Given the description of an element on the screen output the (x, y) to click on. 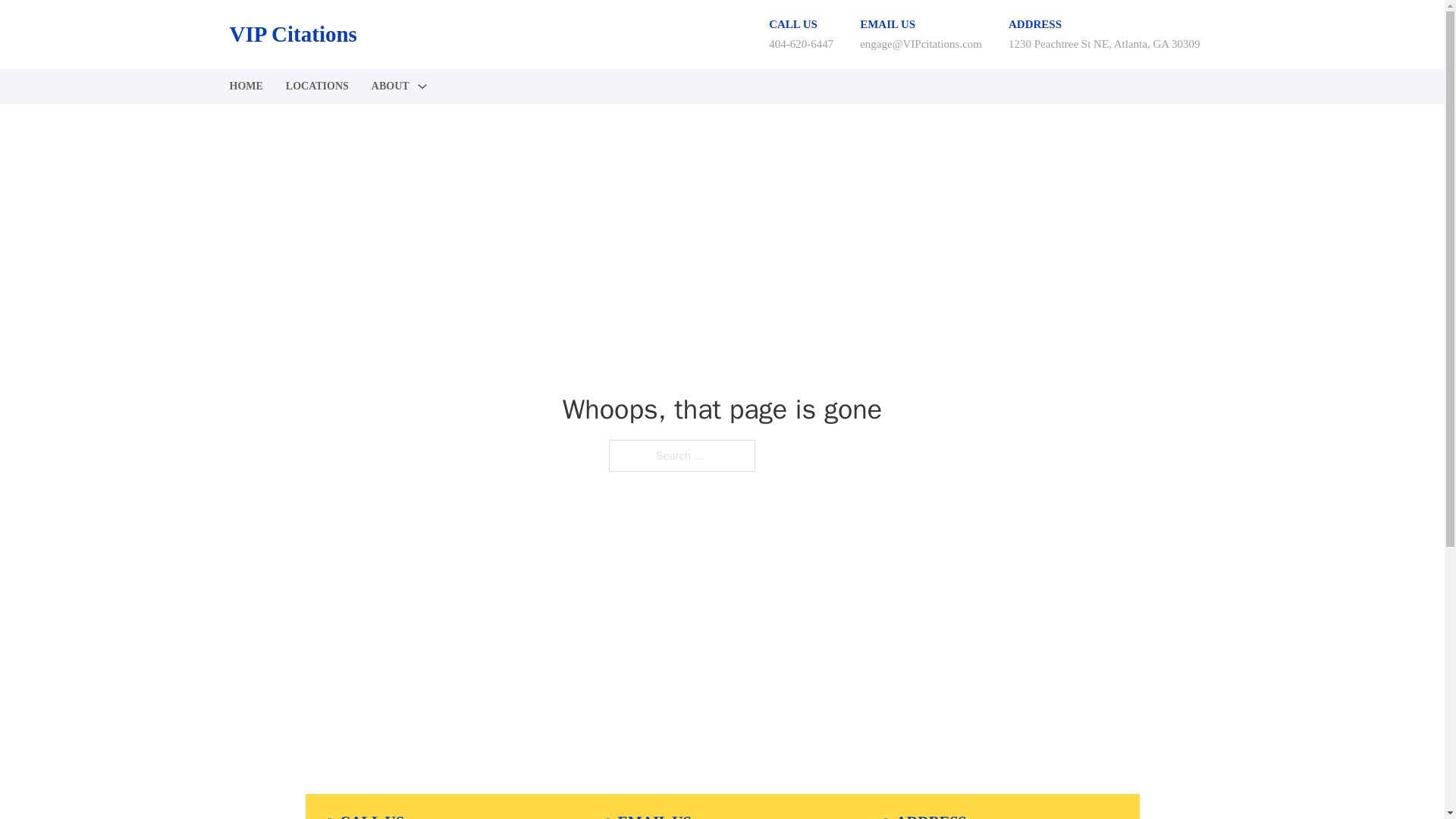
HOME (245, 85)
LOCATIONS (317, 85)
VIP Citations (292, 34)
404-620-6447 (800, 43)
